Given the description of an element on the screen output the (x, y) to click on. 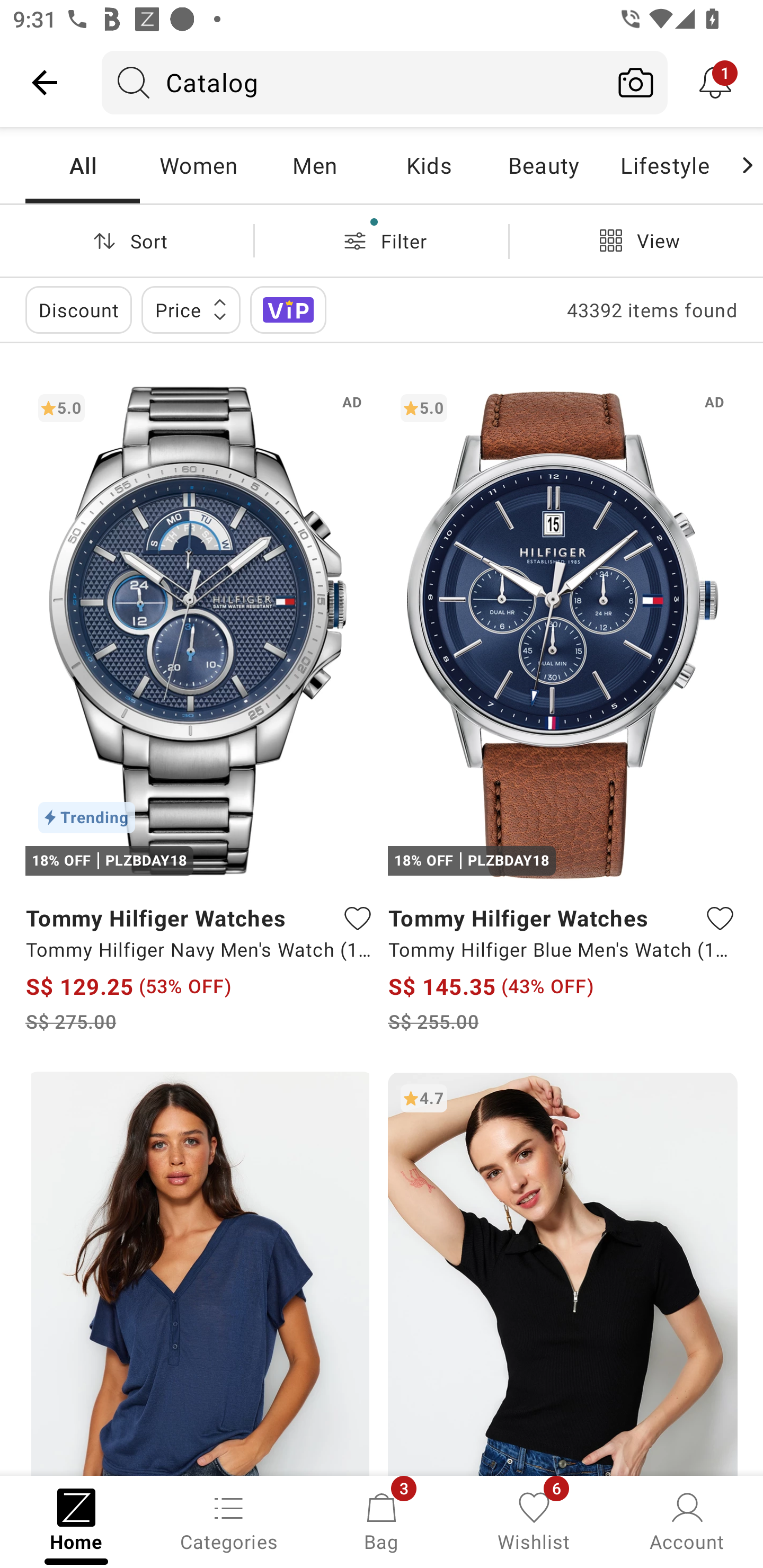
Navigate up (44, 82)
Catalog (352, 82)
Women (198, 165)
Men (314, 165)
Kids (428, 165)
Beauty (543, 165)
Lifestyle (664, 165)
Sort (126, 240)
Filter (381, 240)
View (636, 240)
Discount (78, 309)
Price (190, 309)
4.7 (562, 1272)
Categories (228, 1519)
Bag, 3 new notifications Bag (381, 1519)
Wishlist, 6 new notifications Wishlist (533, 1519)
Account (686, 1519)
